Given the description of an element on the screen output the (x, y) to click on. 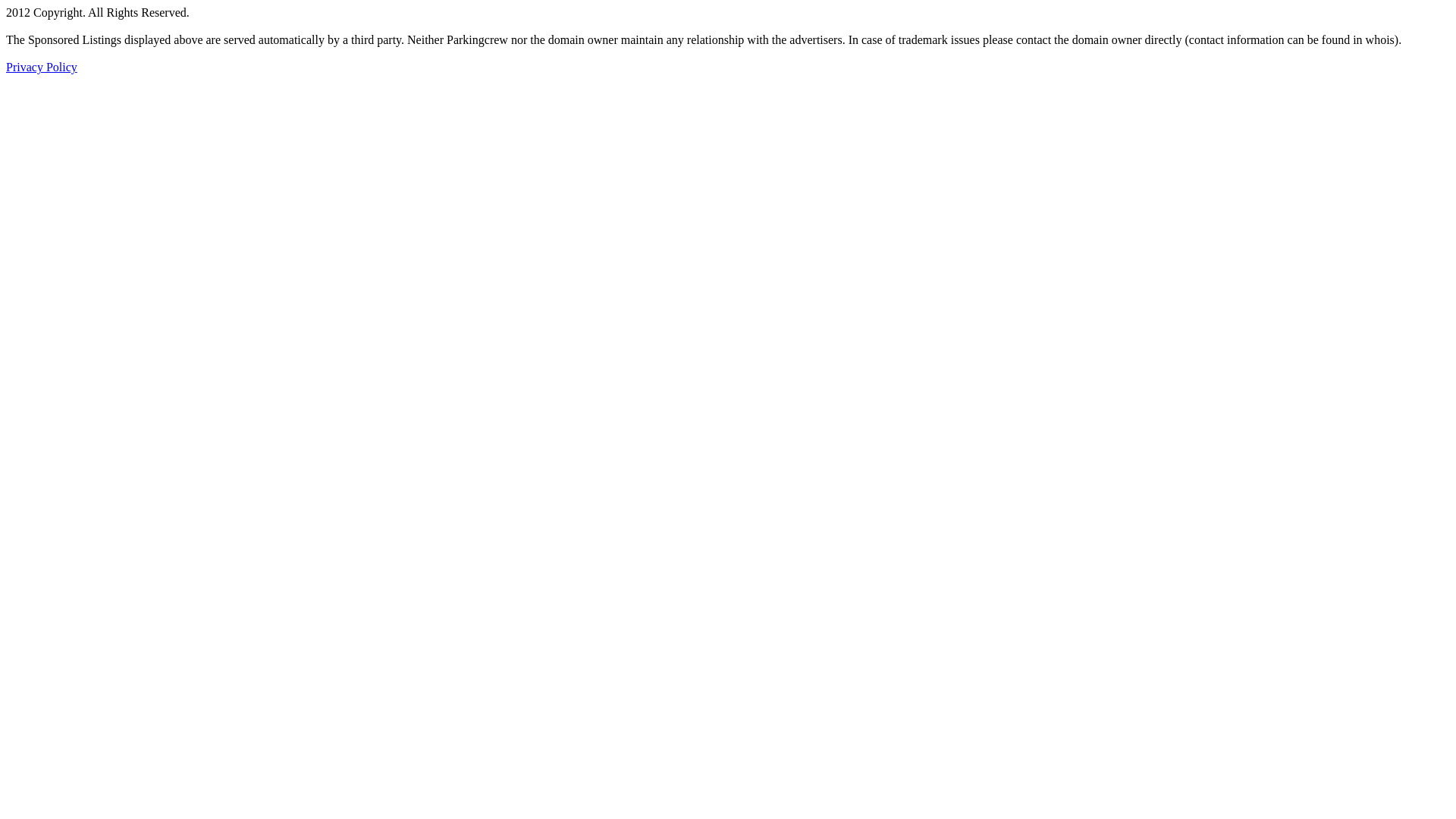
Privacy Policy Element type: text (41, 66)
